Given the description of an element on the screen output the (x, y) to click on. 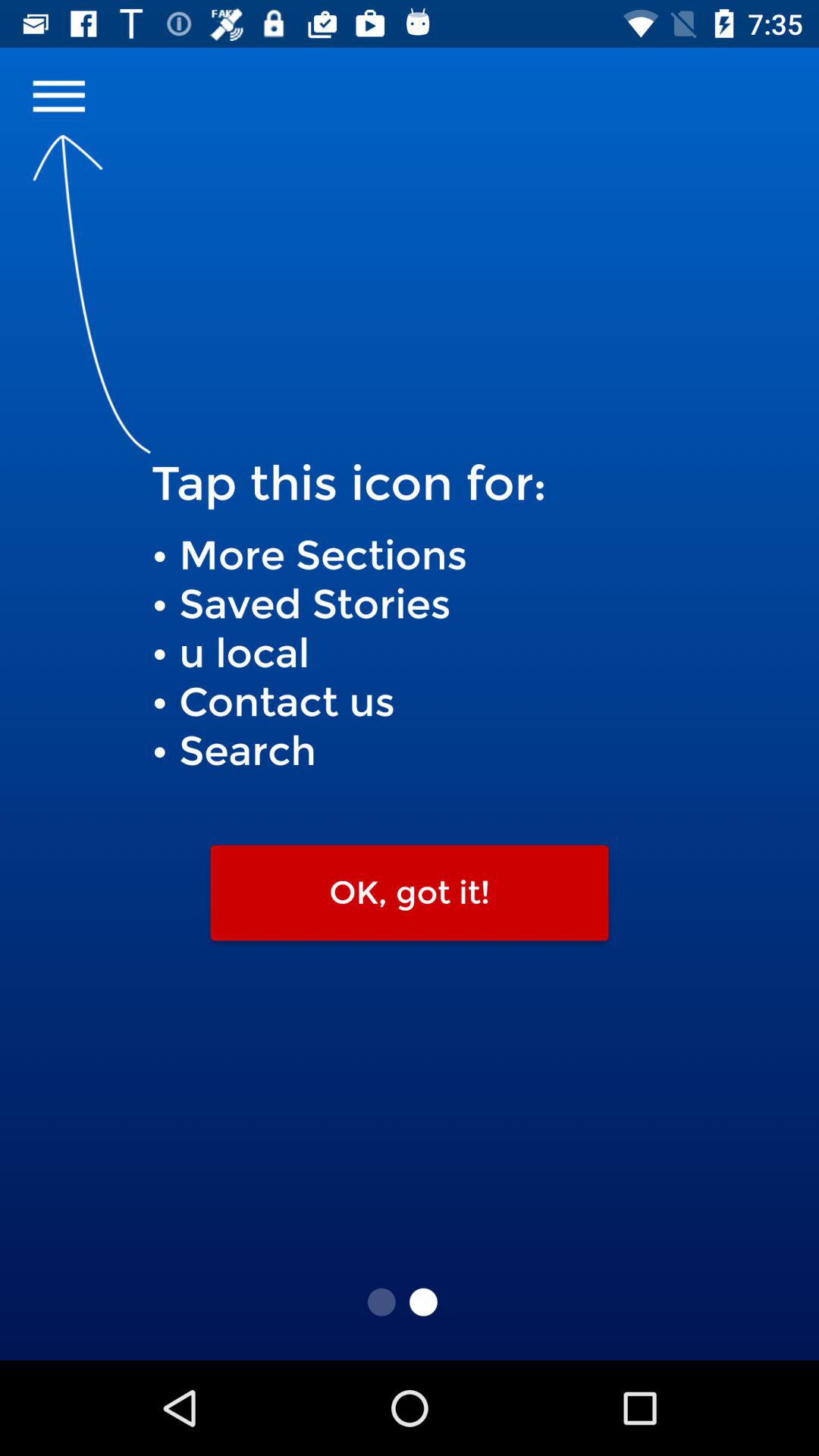
turn off the ok, got it! icon (409, 892)
